Given the description of an element on the screen output the (x, y) to click on. 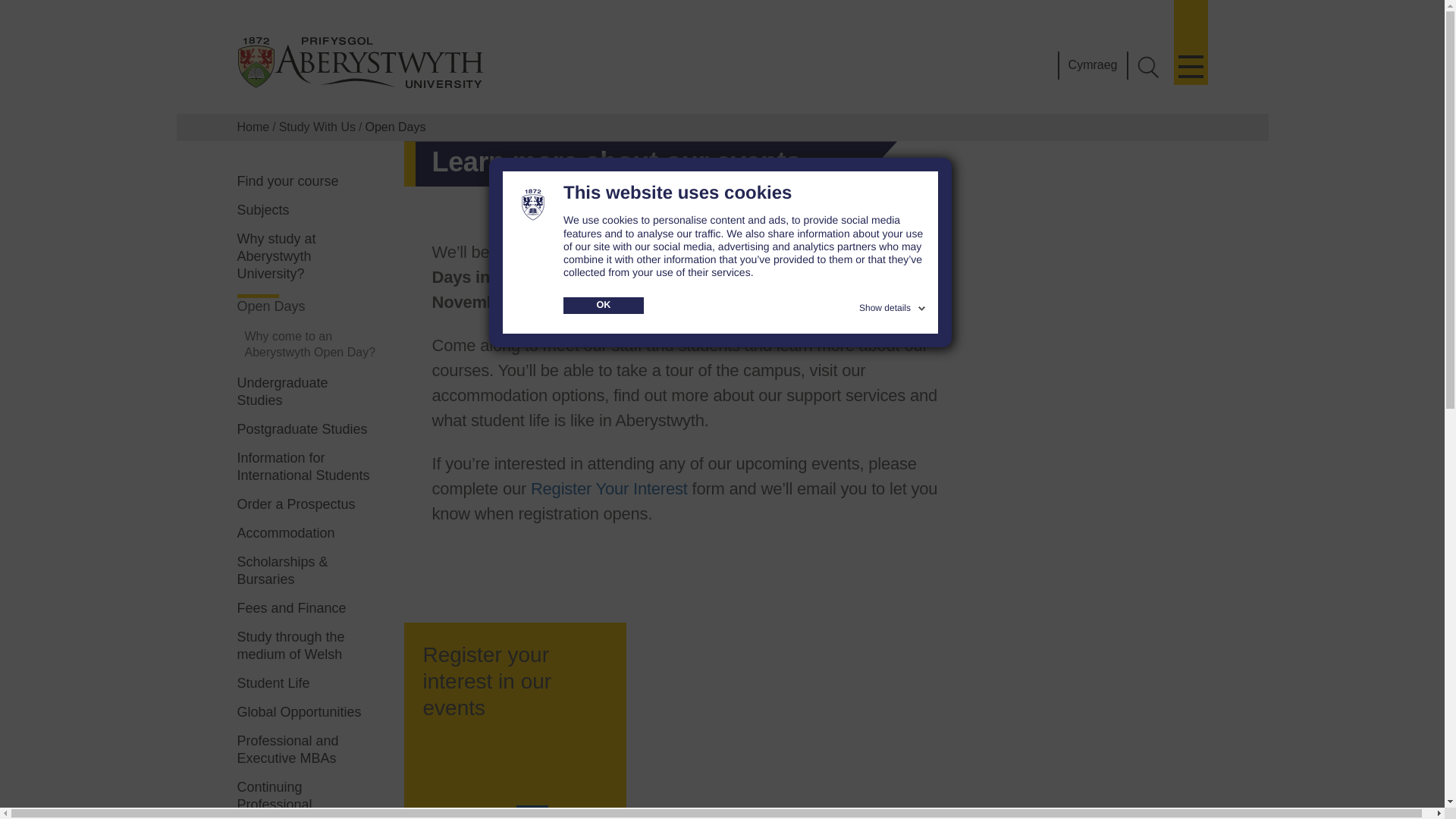
Show details (893, 305)
OK (603, 305)
